Given the description of an element on the screen output the (x, y) to click on. 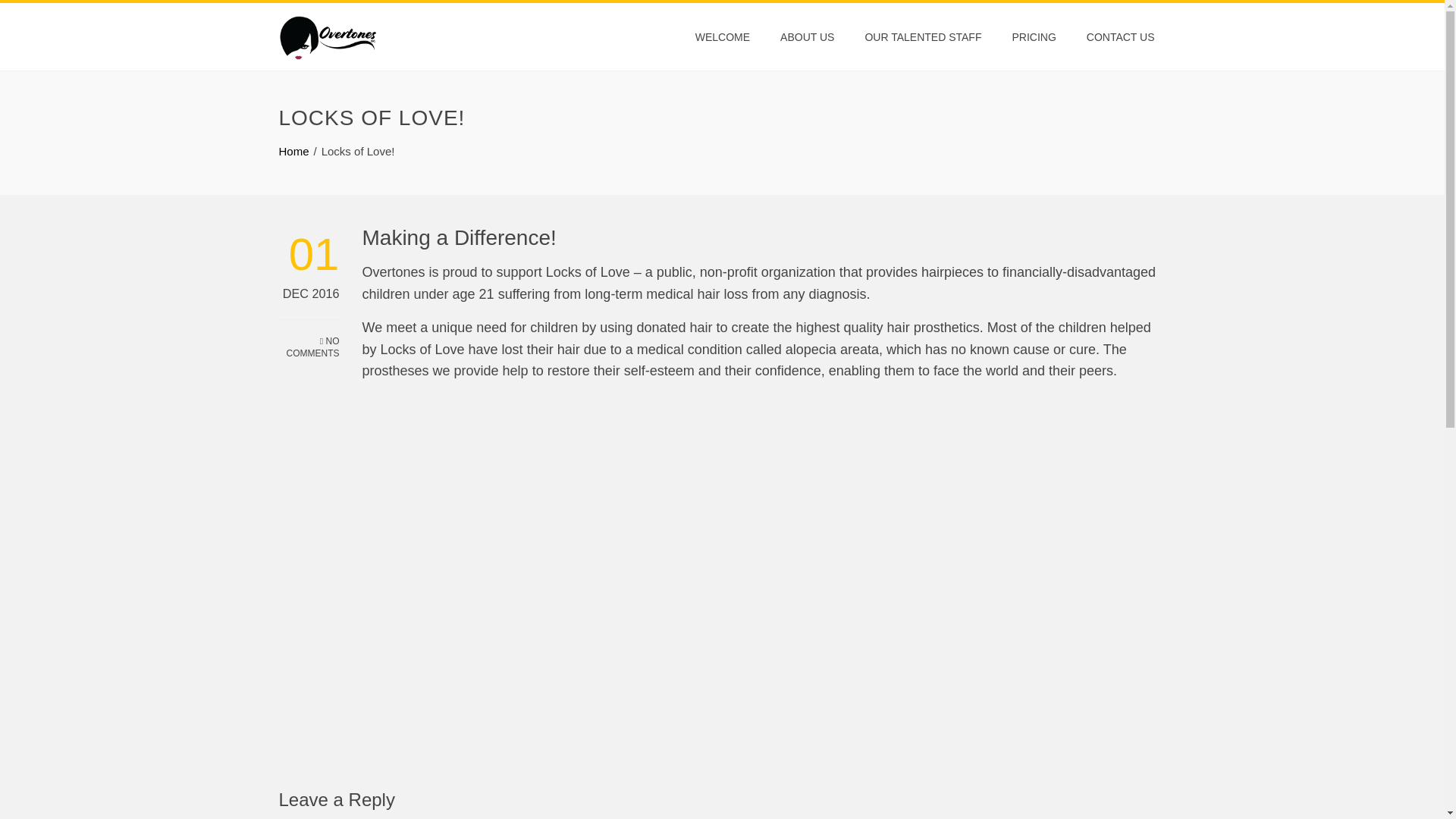
ABOUT US (806, 36)
Search (37, 15)
NO COMMENTS (309, 340)
WELCOME (722, 36)
PRICING (1033, 36)
CONTACT US (1120, 36)
OUR TALENTED STAFF (922, 36)
Home (293, 151)
